Given the description of an element on the screen output the (x, y) to click on. 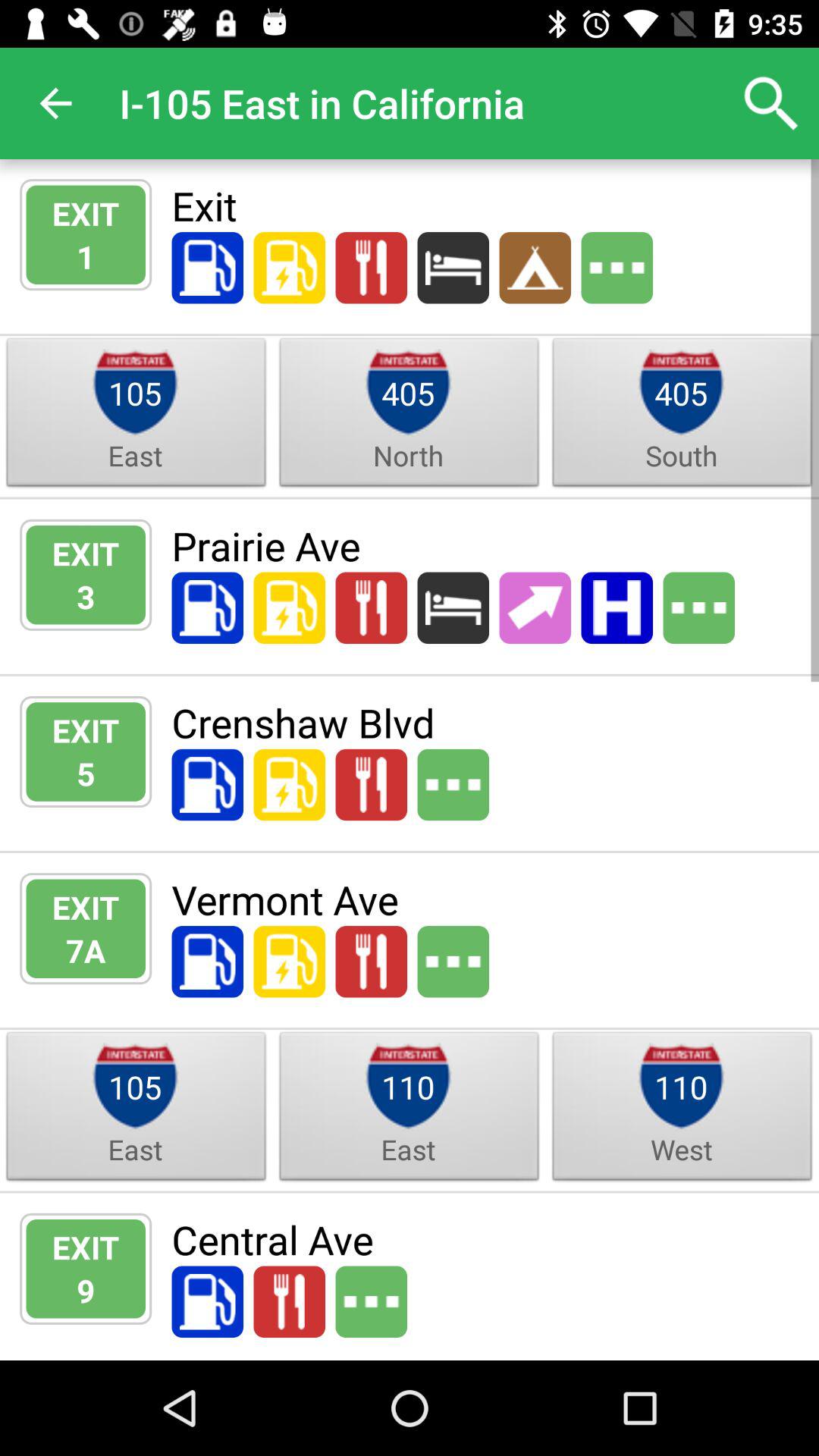
tap item next to exit (85, 256)
